Given the description of an element on the screen output the (x, y) to click on. 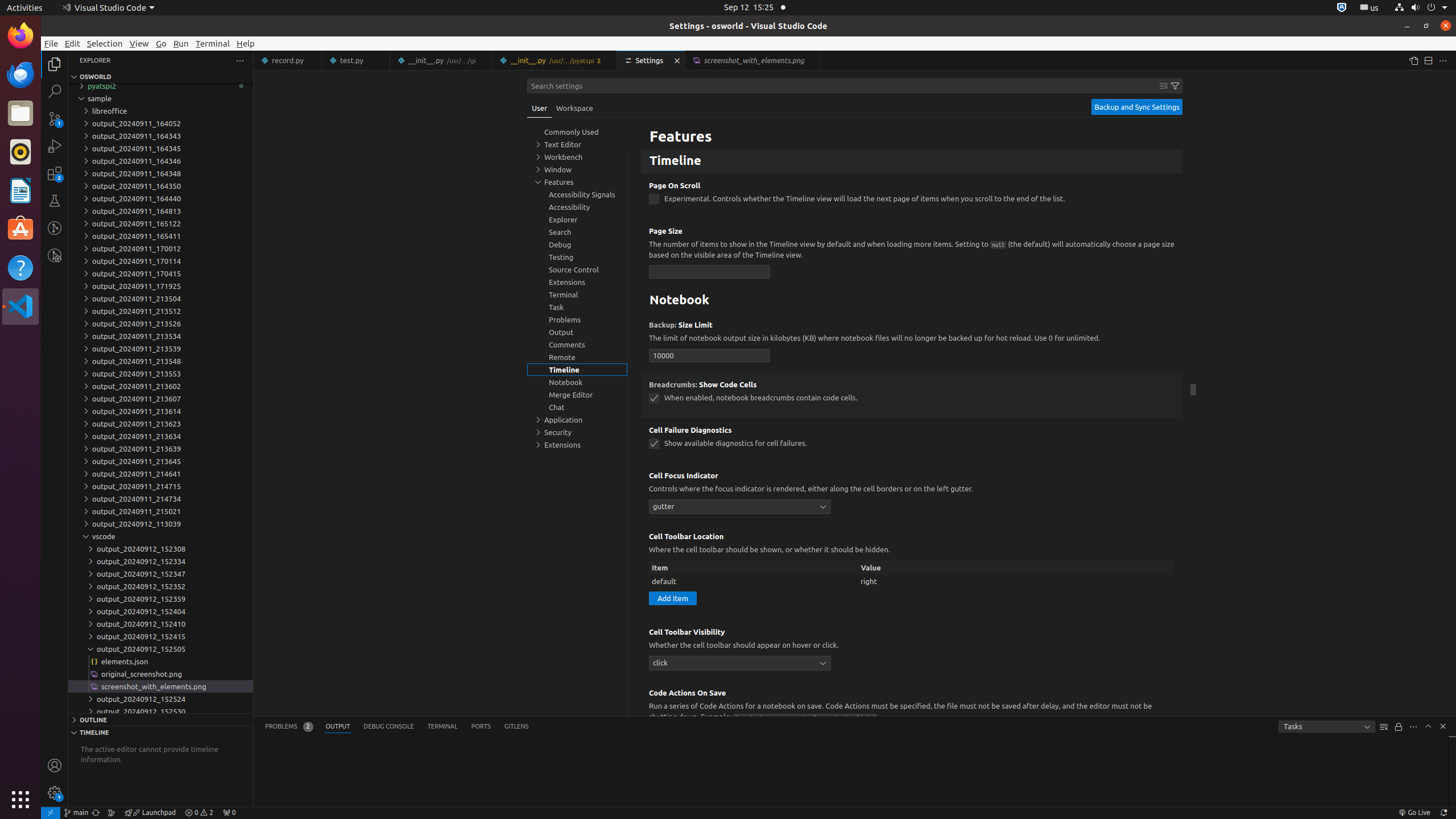
output_20240912_152308 Element type: tree-item (160, 548)
Go Element type: push-button (161, 43)
broadcast Go Live, Click to run live server Element type: push-button (1414, 812)
Open Settings (JSON) Element type: push-button (1413, 60)
 Cell Failure Diagnostics. Show available diagnostics for cell failures.  Element type: tree-item (911, 440)
